Given the description of an element on the screen output the (x, y) to click on. 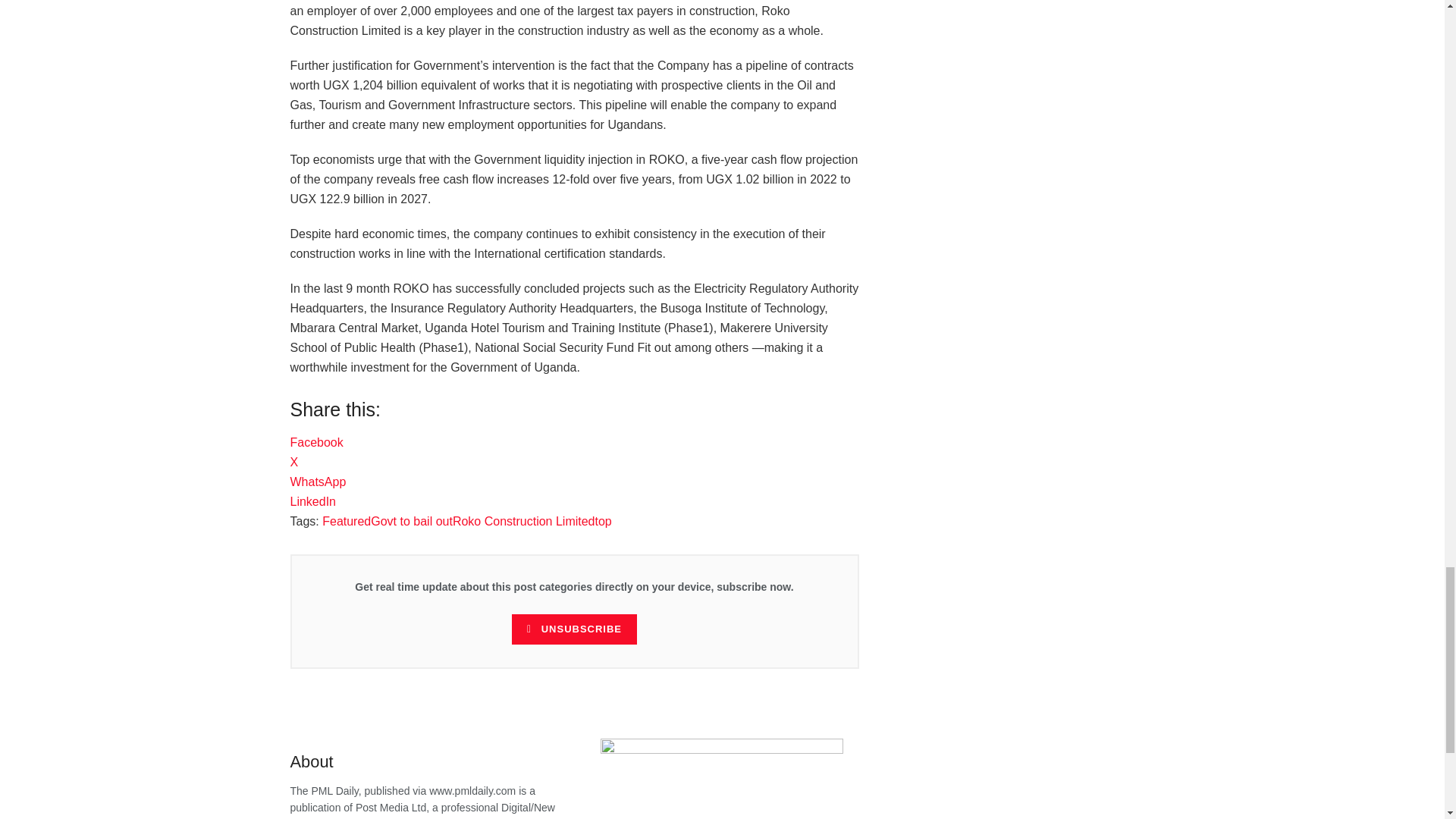
Click to share on WhatsApp (317, 481)
Click to share on LinkedIn (312, 501)
Click to share on Facebook (315, 441)
Click to share on X (293, 461)
